Given the description of an element on the screen output the (x, y) to click on. 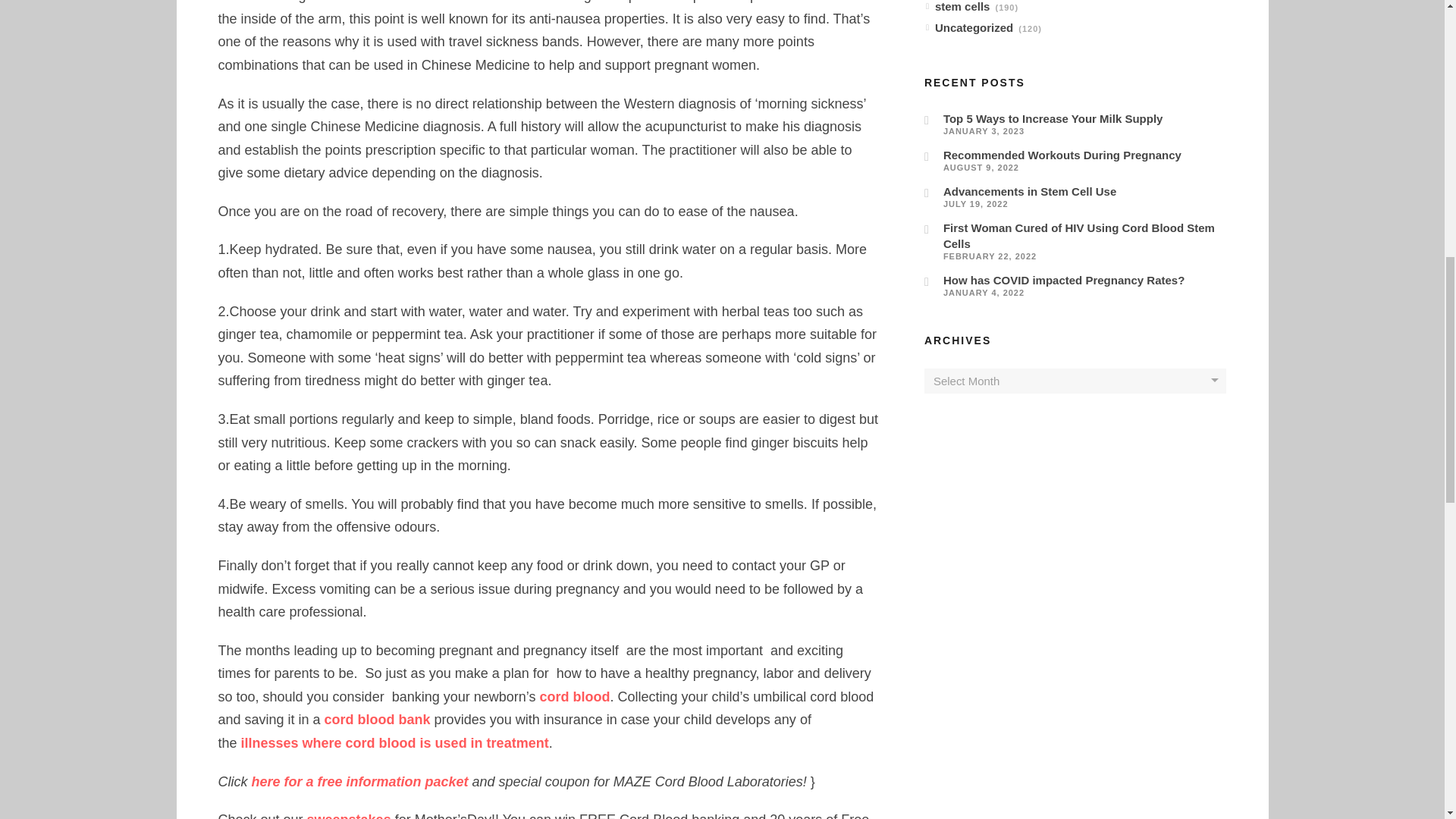
sweepstakes (349, 815)
cord blood (572, 696)
illnesses where cord blood is used in treatment (394, 743)
here for a free information packet (359, 781)
cord blood bank (377, 719)
